Given the description of an element on the screen output the (x, y) to click on. 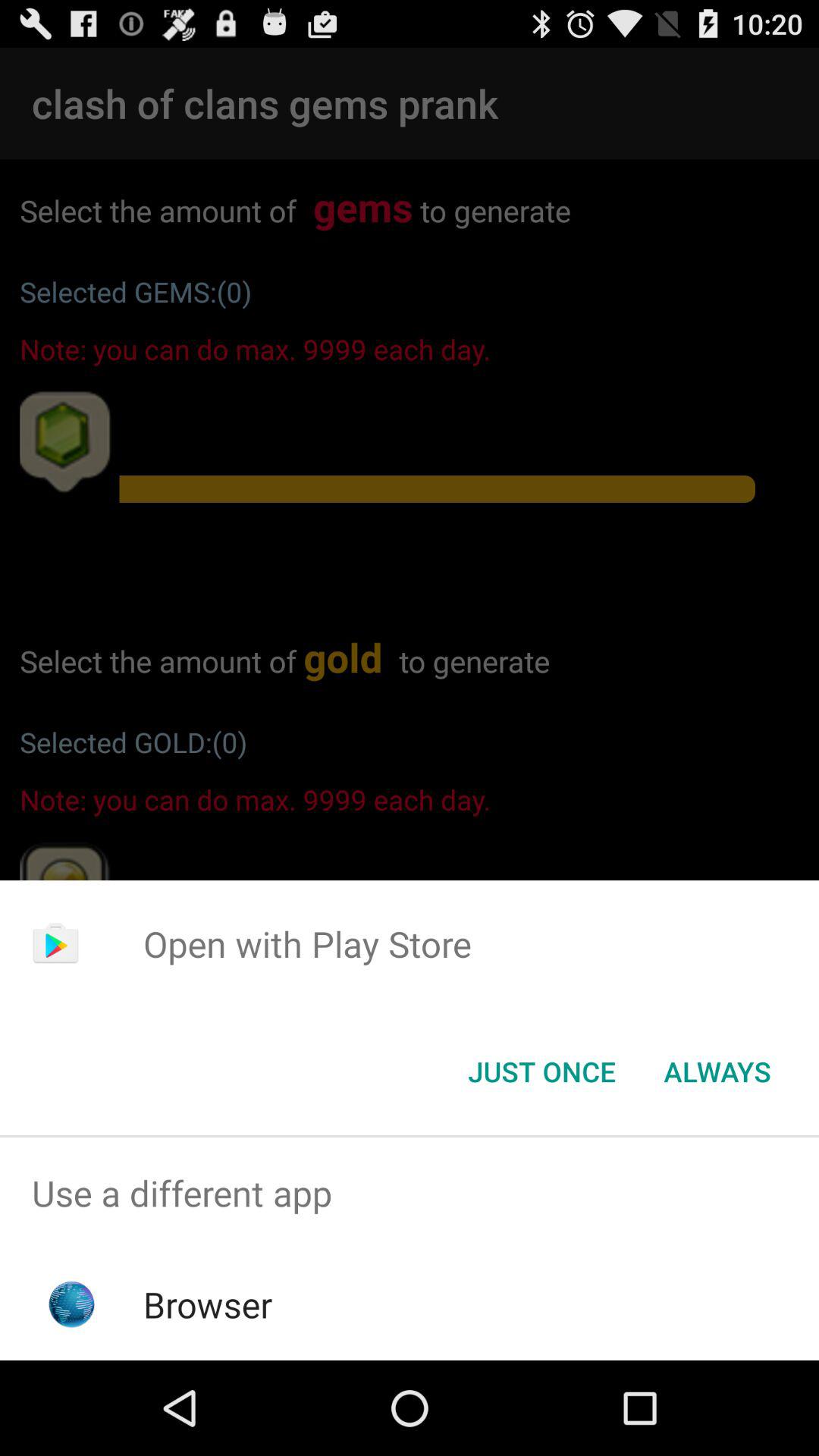
scroll until browser app (207, 1304)
